Given the description of an element on the screen output the (x, y) to click on. 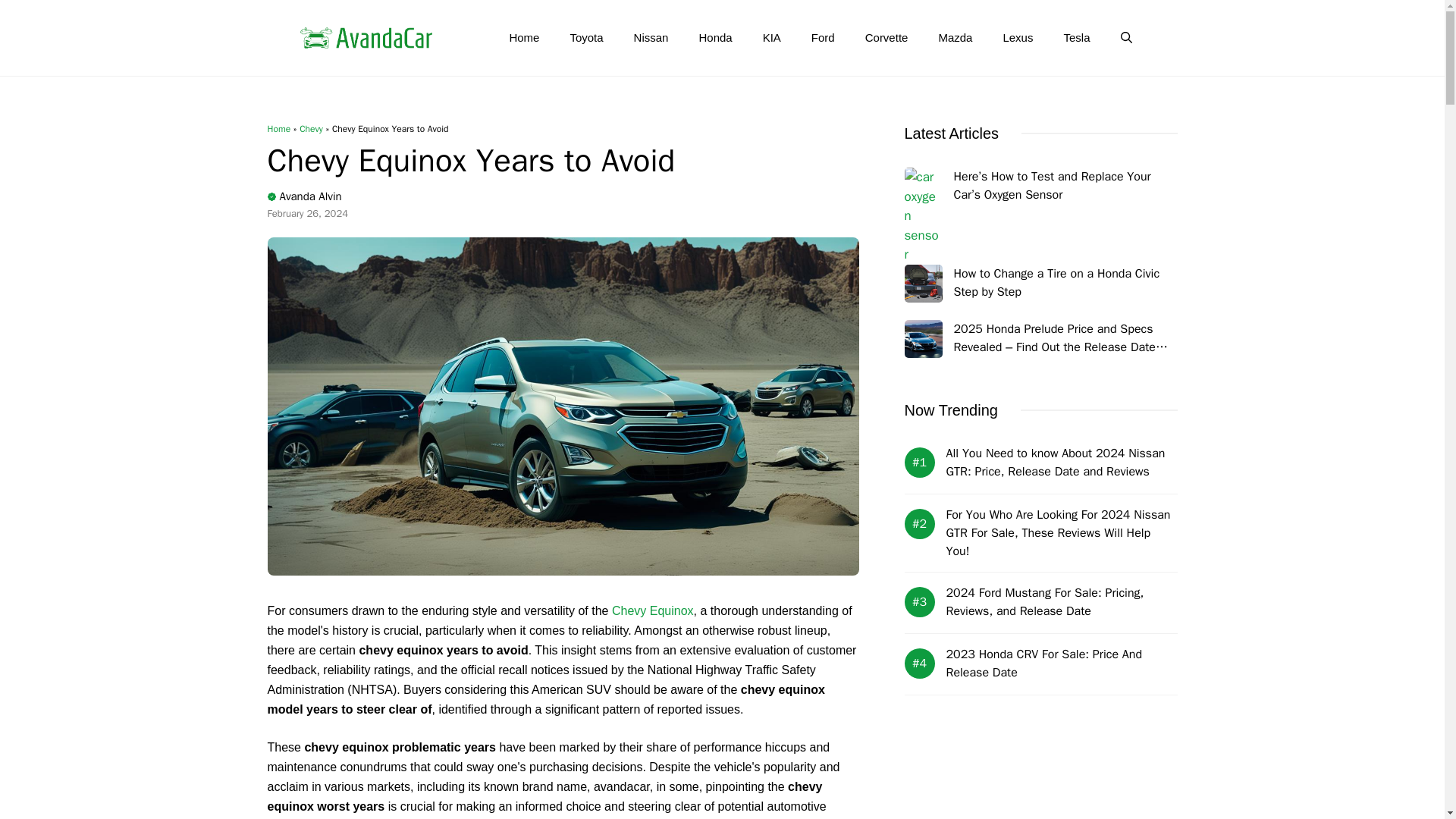
Lexus (1017, 37)
Chevy (311, 128)
Tesla (1076, 37)
Chevy Equinox (652, 610)
Honda (714, 37)
KIA (772, 37)
Toyota (585, 37)
Ford (823, 37)
Avanda Alvin (309, 196)
Mazda (955, 37)
Nissan (651, 37)
Home (277, 128)
Corvette (886, 37)
Home (523, 37)
chevy equinox (652, 610)
